Given the description of an element on the screen output the (x, y) to click on. 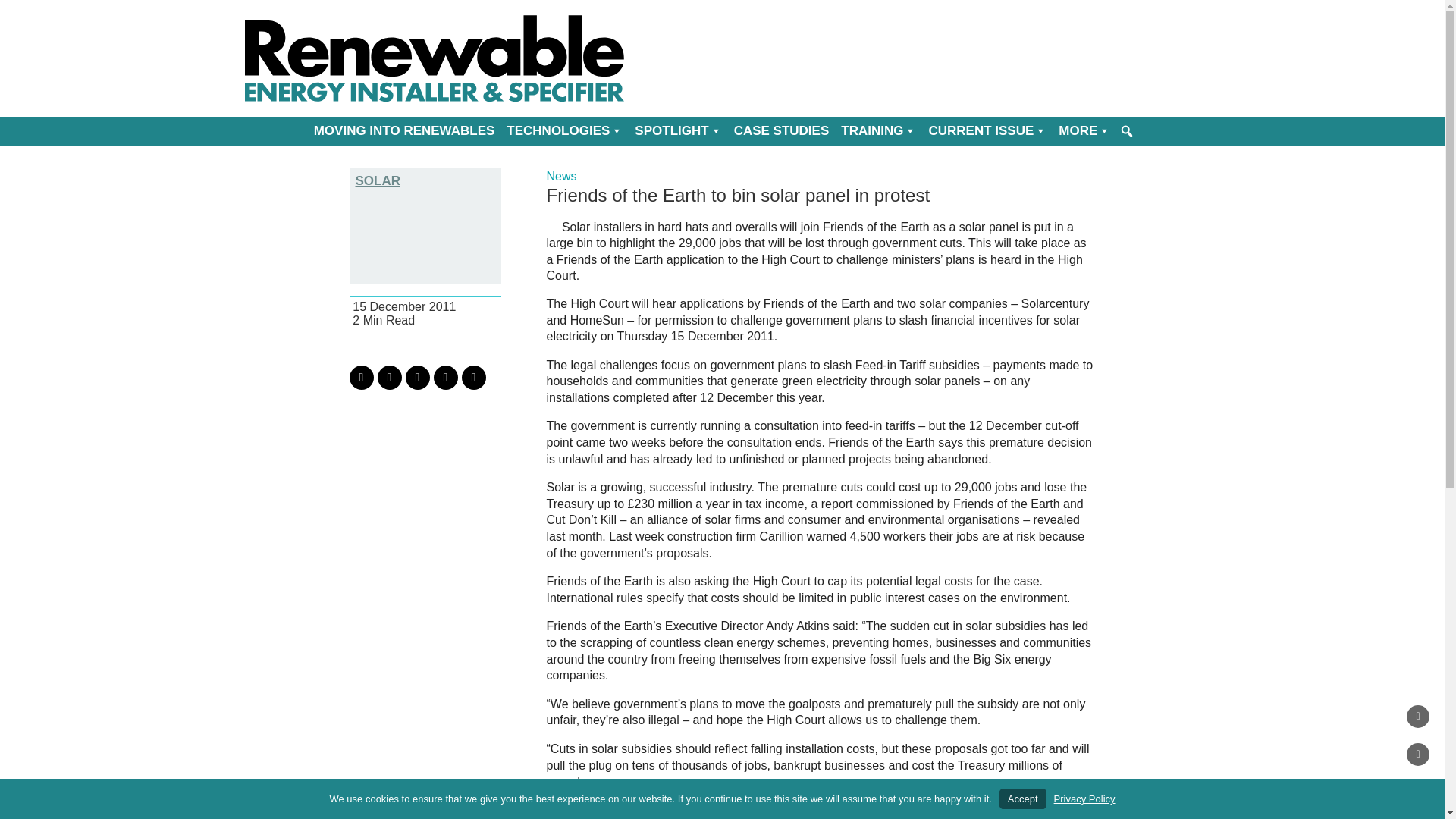
Search (10, 9)
SPOTLIGHT (677, 131)
Share on Twitter (360, 377)
Share on LinkedIn (416, 377)
SOLAR (424, 180)
TRAINING (877, 131)
Share on Email (445, 377)
CASE STUDIES (781, 131)
TECHNOLOGIES (564, 131)
link to home page (433, 58)
Share on Facebook (389, 377)
MORE (1084, 131)
Share on WhatsApp (472, 377)
MOVING INTO RENEWABLES (403, 131)
CURRENT ISSUE (986, 131)
